Given the description of an element on the screen output the (x, y) to click on. 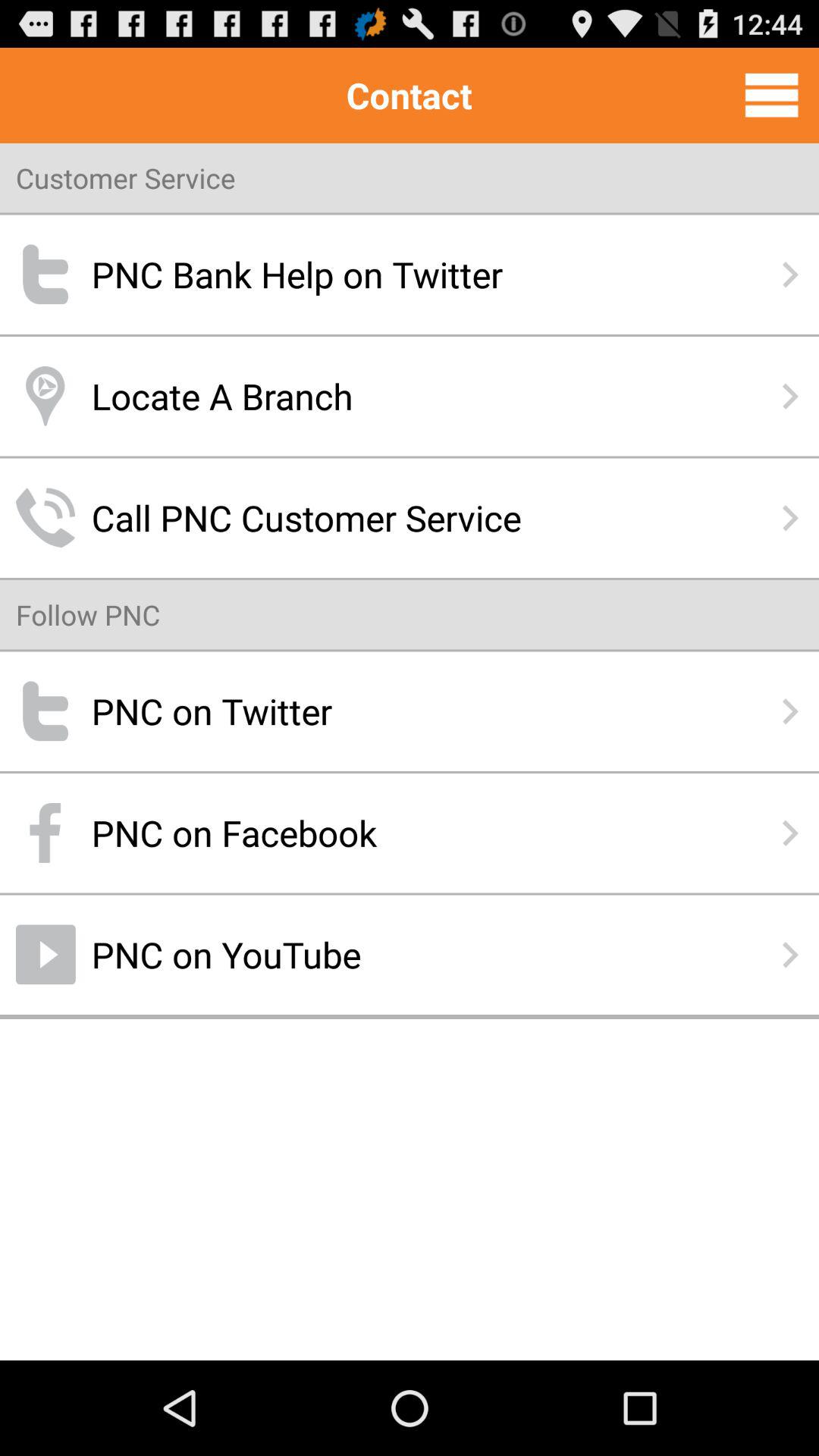
click the pnc bank help (409, 274)
